Given the description of an element on the screen output the (x, y) to click on. 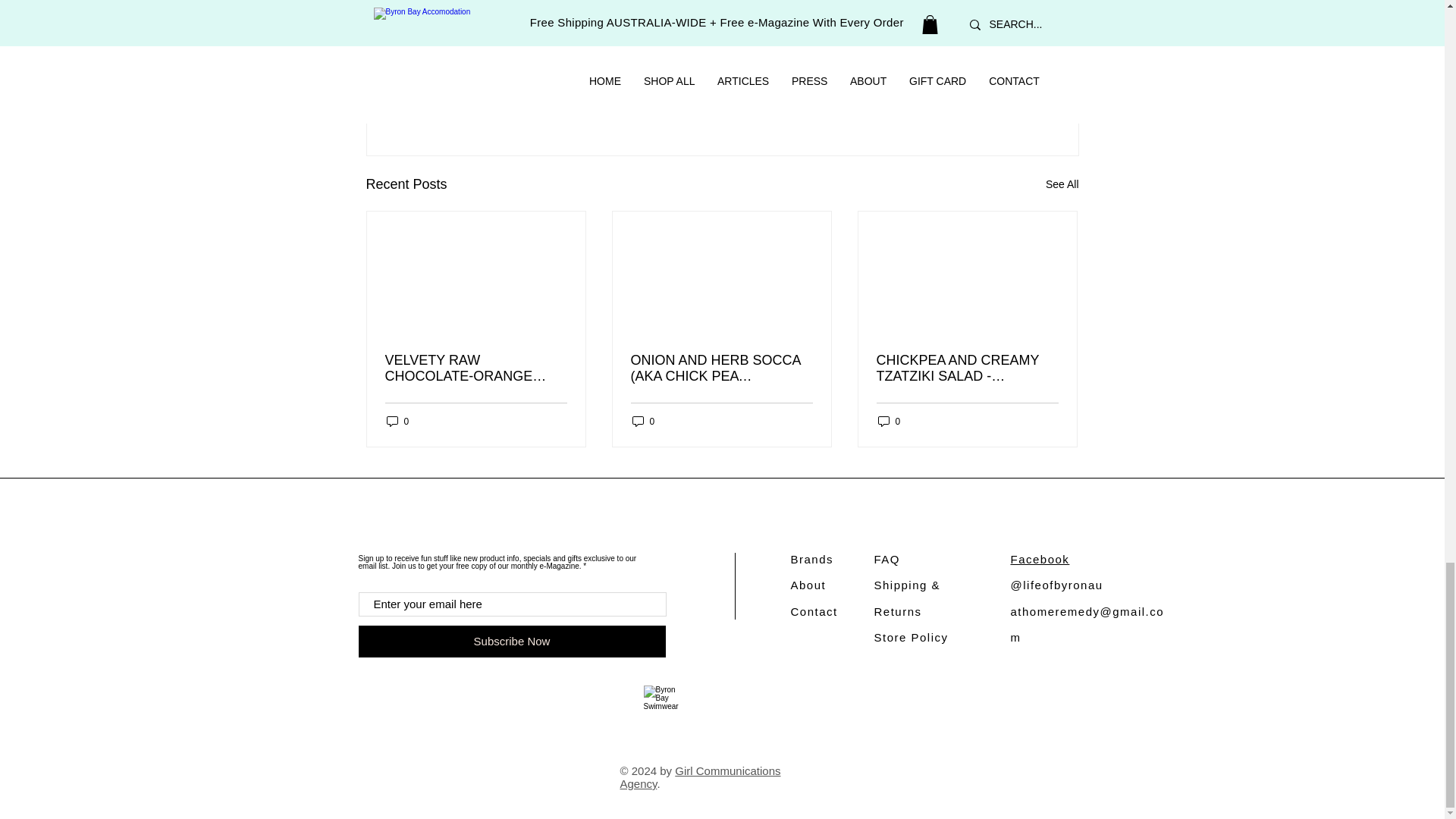
0 (397, 421)
0 (889, 421)
See All (1061, 184)
0 (643, 421)
VELVETY RAW CHOCOLATE-ORANGE TORTE (476, 368)
